Given the description of an element on the screen output the (x, y) to click on. 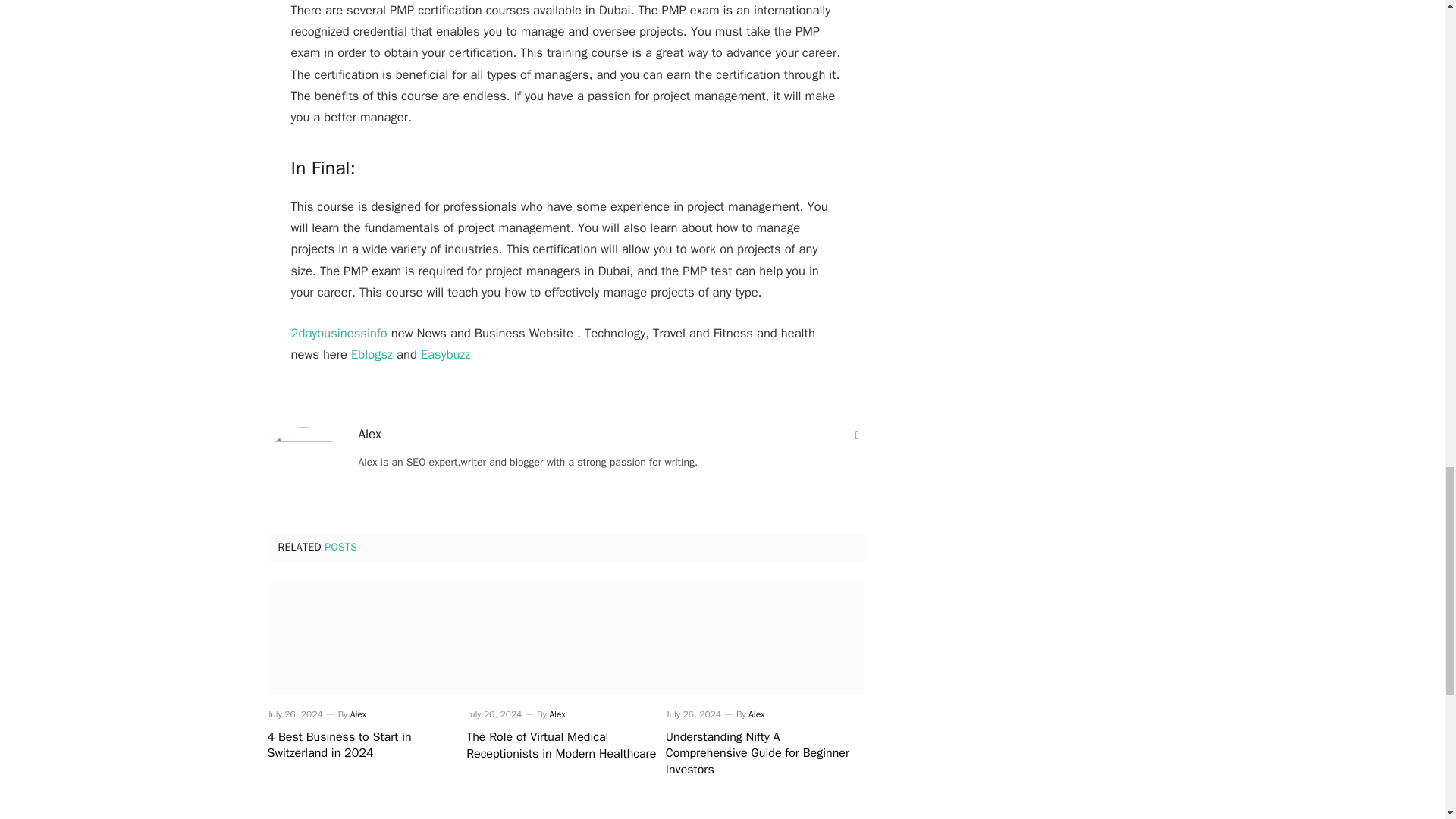
Posts by Alex (358, 714)
4 Best Business to Start in Switzerland in 2024 (365, 745)
Posts by Alex (556, 714)
Alex (358, 714)
Eblogsz (371, 354)
2daybusinessinfo (339, 333)
Easybuzz (445, 354)
Alex (369, 434)
Posts by Alex (369, 434)
4 Best Business to Start in Switzerland in 2024 (365, 639)
Website (856, 435)
Website (856, 435)
Alex (556, 714)
